Given the description of an element on the screen output the (x, y) to click on. 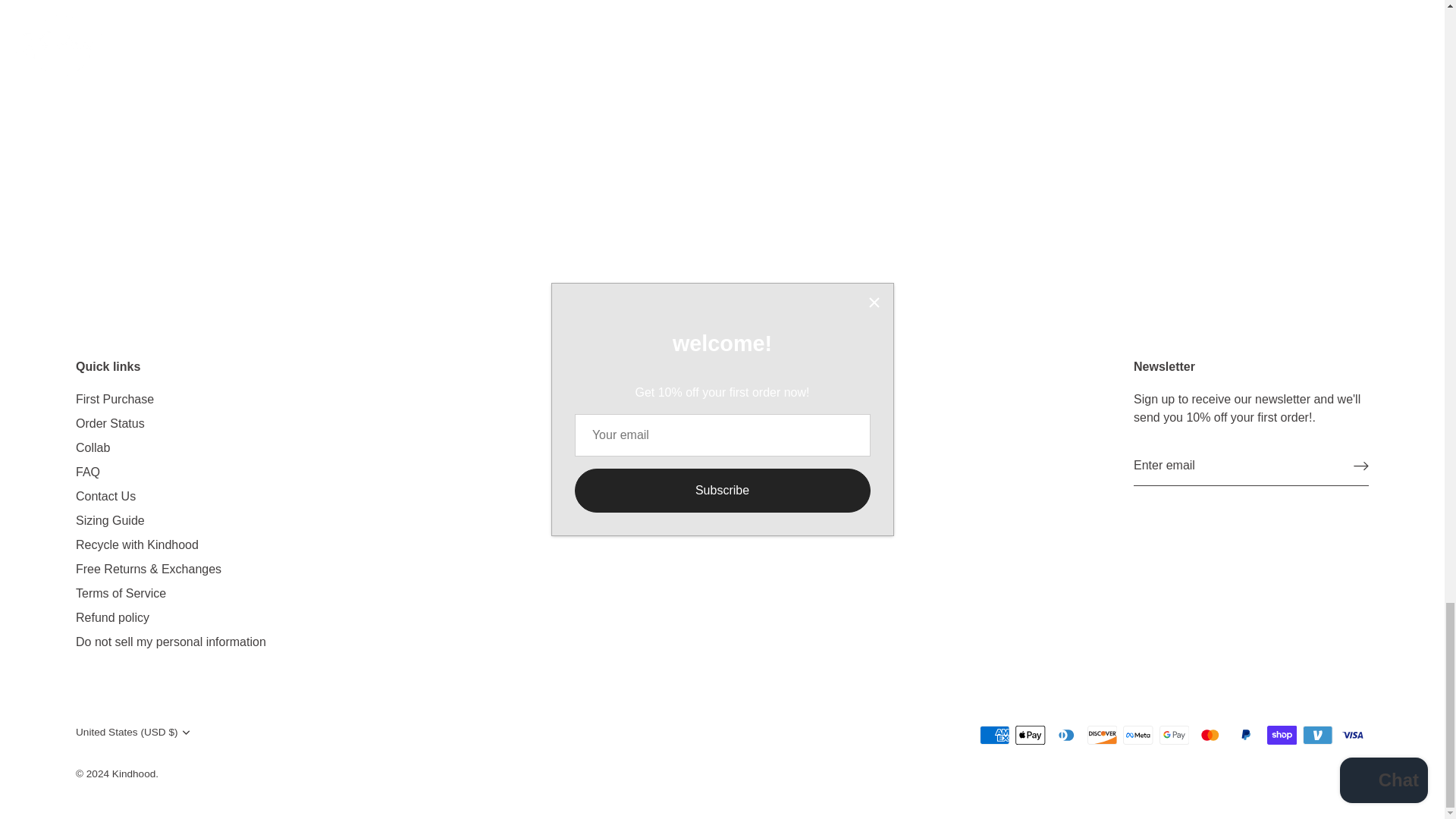
Diners Club (1066, 734)
American Express (994, 734)
Meta Pay (1137, 734)
Visa (1353, 734)
Google Pay (1173, 734)
Right arrow long (1361, 466)
Venmo (1317, 734)
Discover (1101, 734)
PayPal (1245, 734)
Apple Pay (1029, 734)
